Given the description of an element on the screen output the (x, y) to click on. 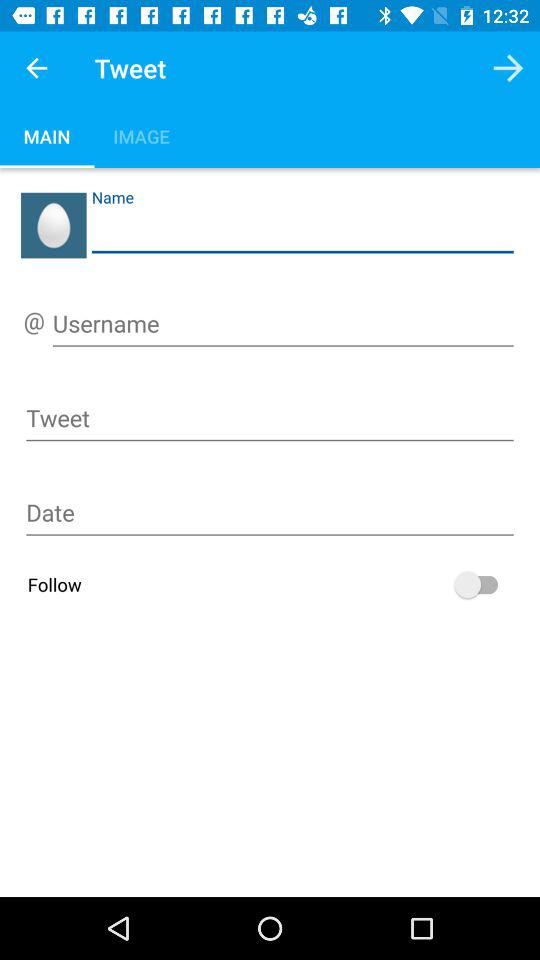
enter user name (283, 327)
